Given the description of an element on the screen output the (x, y) to click on. 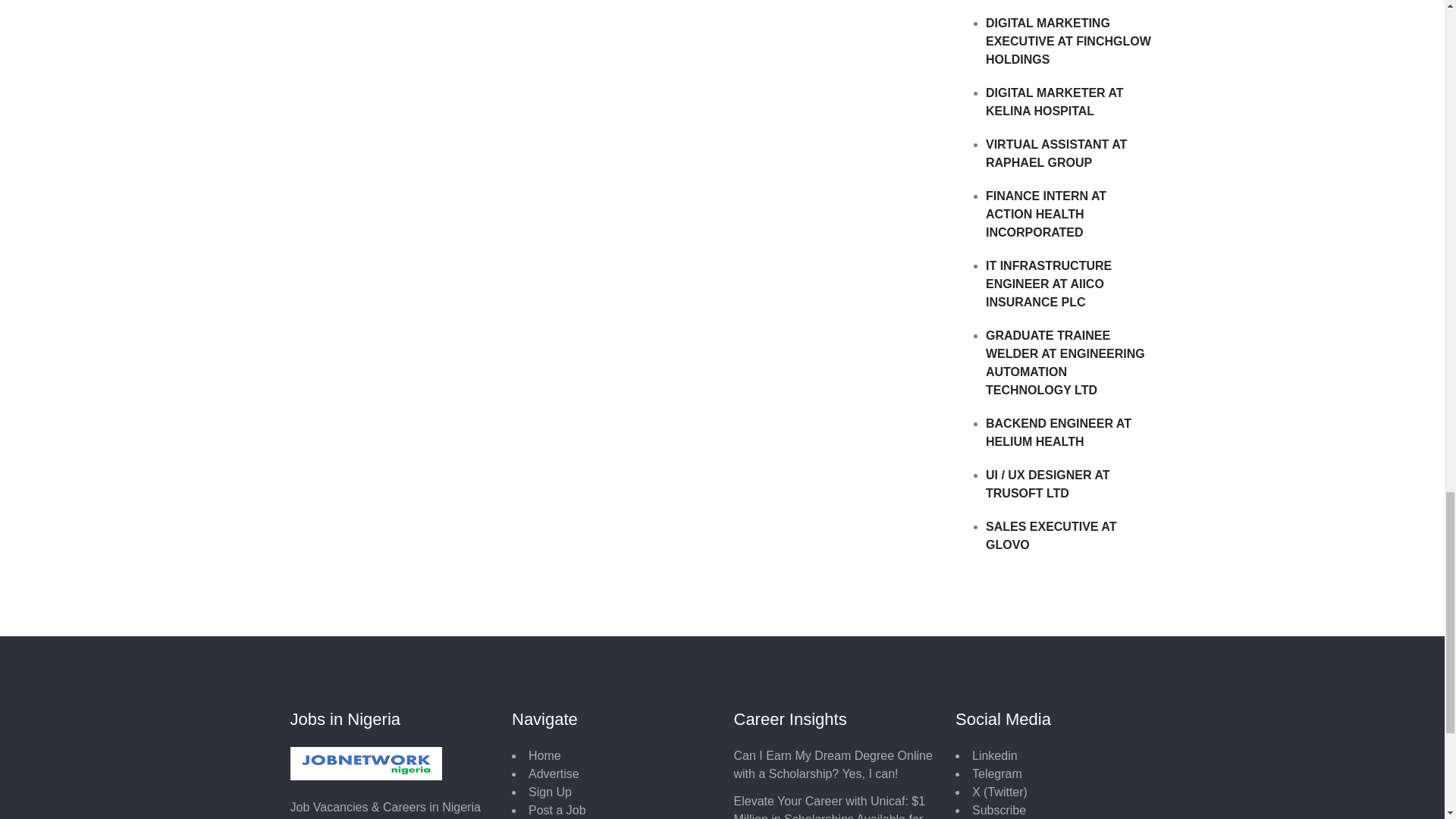
FINANCE INTERN AT ACTION HEALTH INCORPORATED (1045, 214)
VIRTUAL ASSISTANT AT RAPHAEL GROUP (1055, 153)
DIGITAL MARKETING EXECUTIVE AT FINCHGLOW HOLDINGS (1068, 41)
DIGITAL MARKETER AT KELINA HOSPITAL (1054, 101)
SALES EXECUTIVE AT GLOVO (1050, 535)
IT INFRASTRUCTURE ENGINEER AT AIICO INSURANCE PLC (1048, 283)
BACKEND ENGINEER AT HELIUM HEALTH (1058, 431)
